Given the description of an element on the screen output the (x, y) to click on. 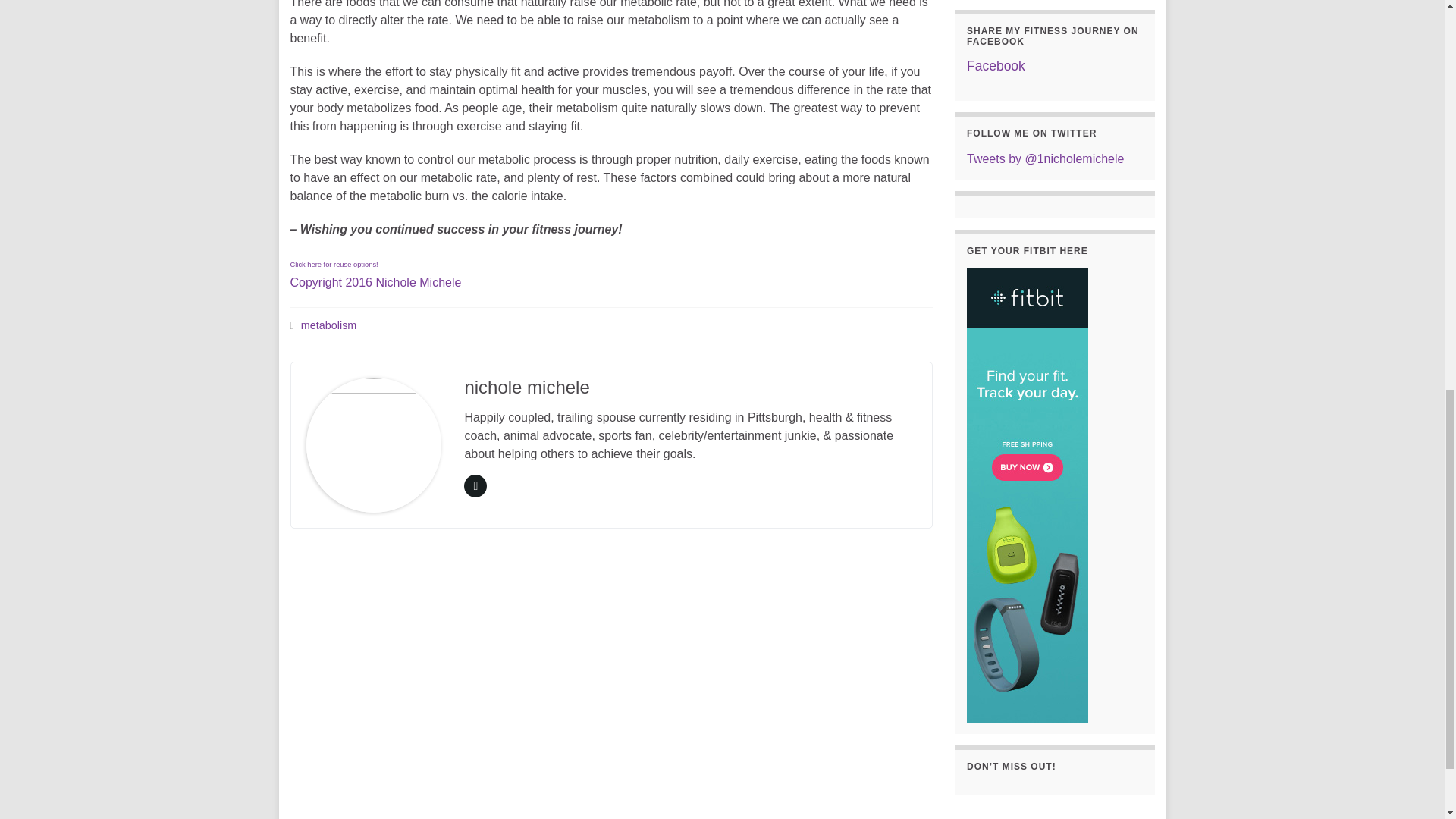
metabolism (328, 325)
Facebook (995, 65)
